Given the description of an element on the screen output the (x, y) to click on. 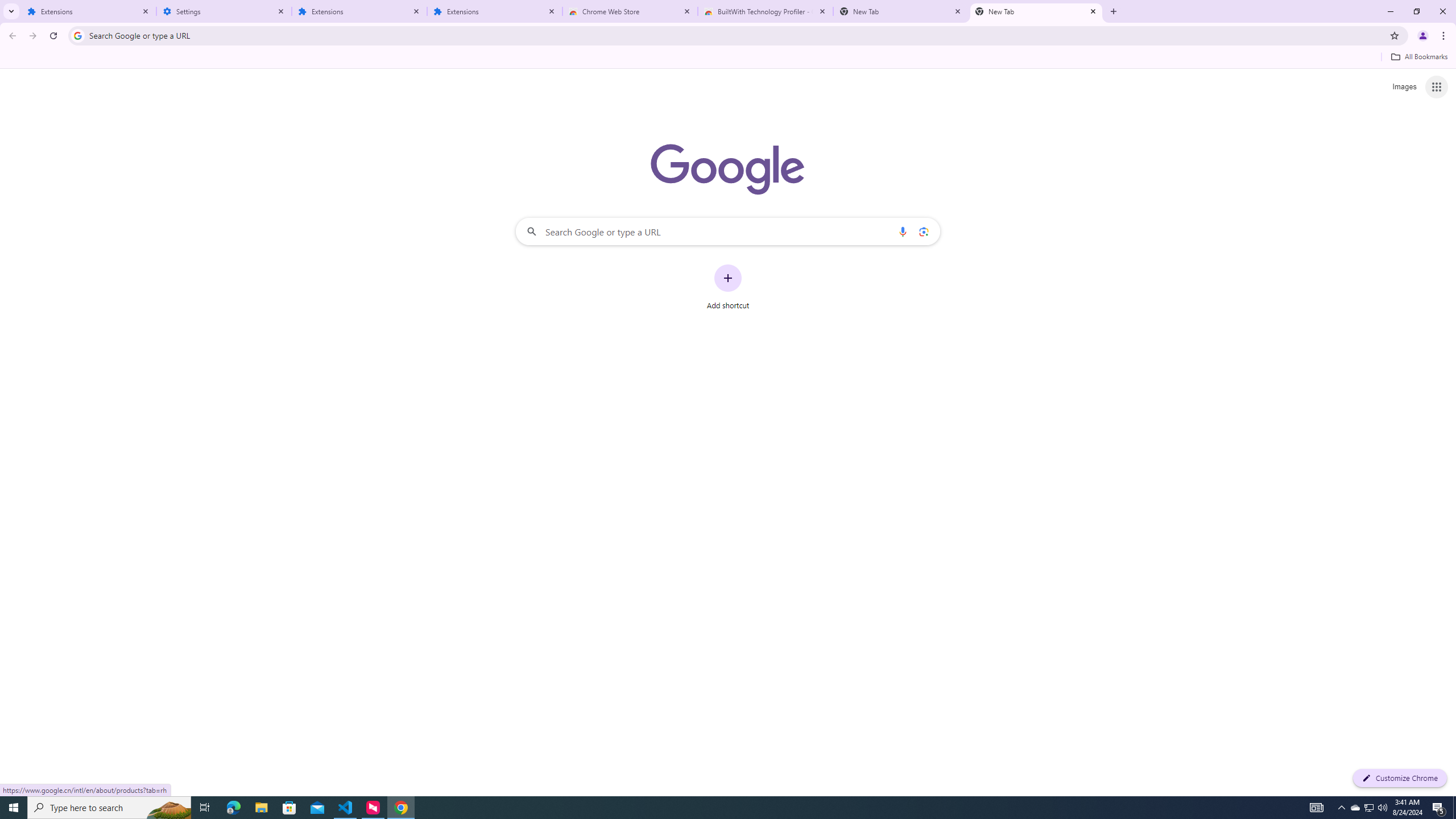
BuiltWith Technology Profiler - Chrome Web Store (765, 11)
Customize Chrome (1399, 778)
New Tab (1036, 11)
New Tab (901, 11)
Extensions (359, 11)
Search for Images  (1403, 87)
Search by voice (902, 230)
Extensions (494, 11)
Chrome Web Store (630, 11)
